Given the description of an element on the screen output the (x, y) to click on. 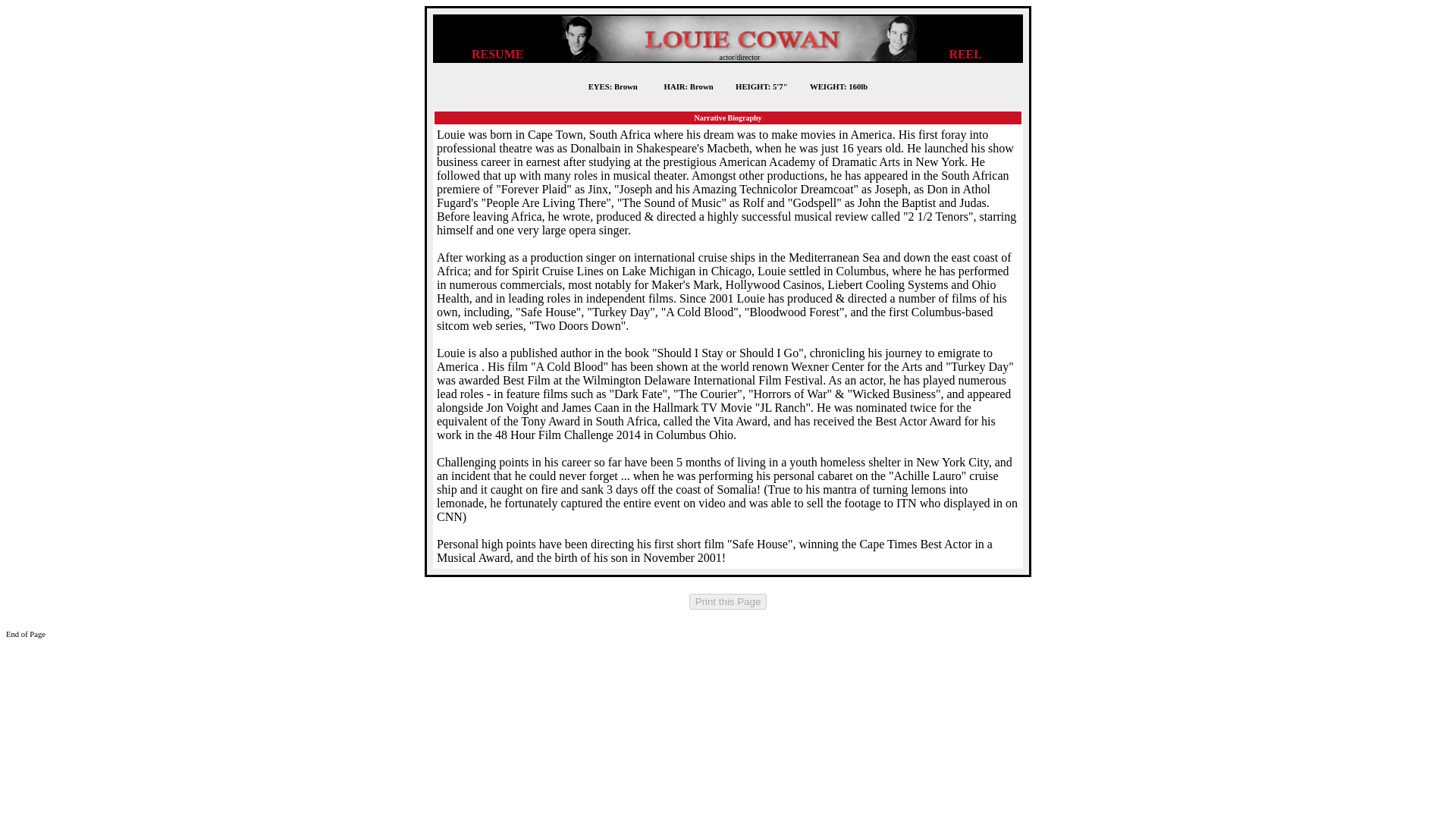
Print this Page (727, 601)
REEL (965, 53)
RESUME (496, 53)
